Given the description of an element on the screen output the (x, y) to click on. 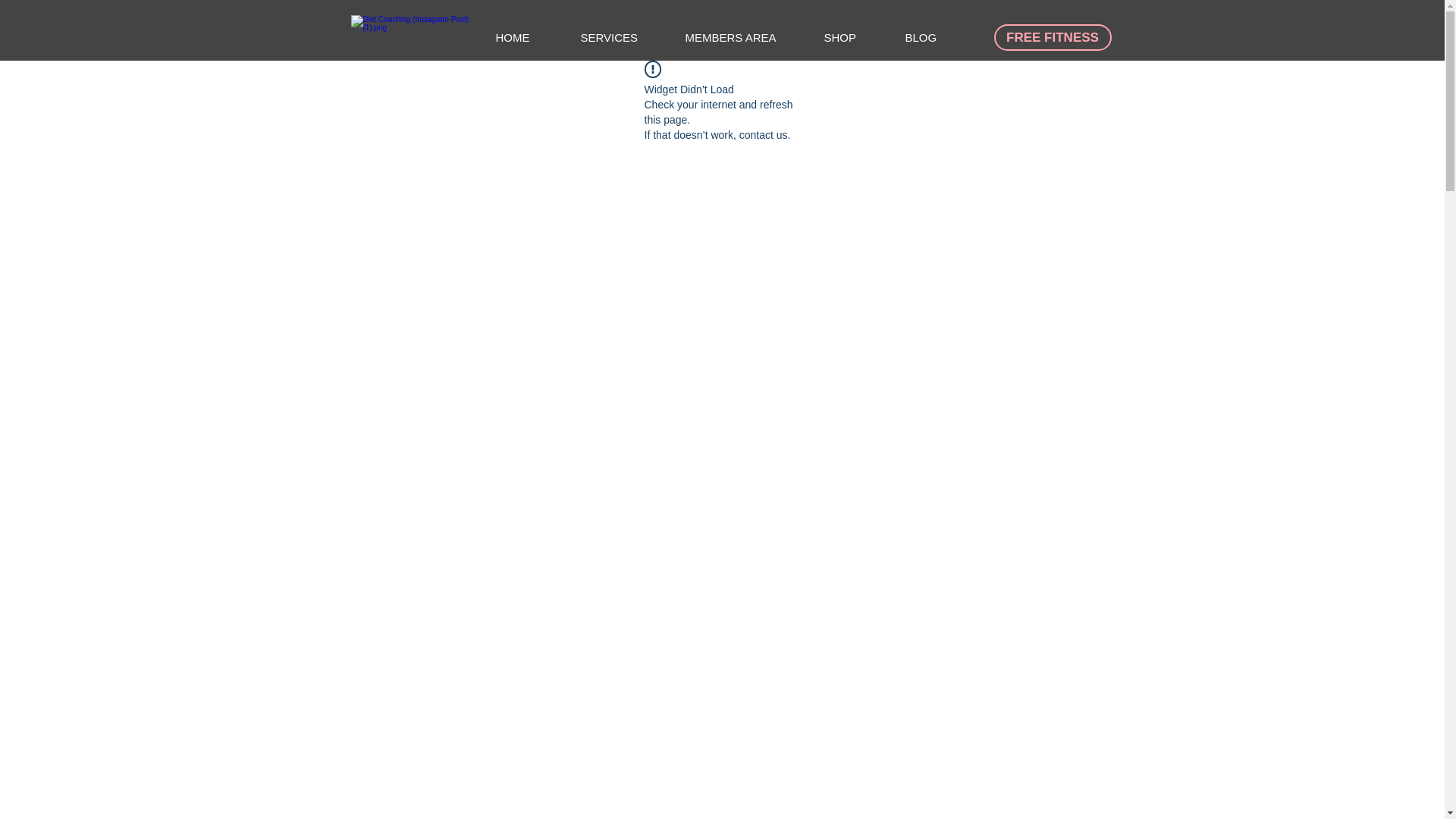
MEMBERS AREA (742, 37)
HOME (526, 37)
! (653, 68)
BLOG (934, 37)
FREE FITNESS (1051, 37)
